Given the description of an element on the screen output the (x, y) to click on. 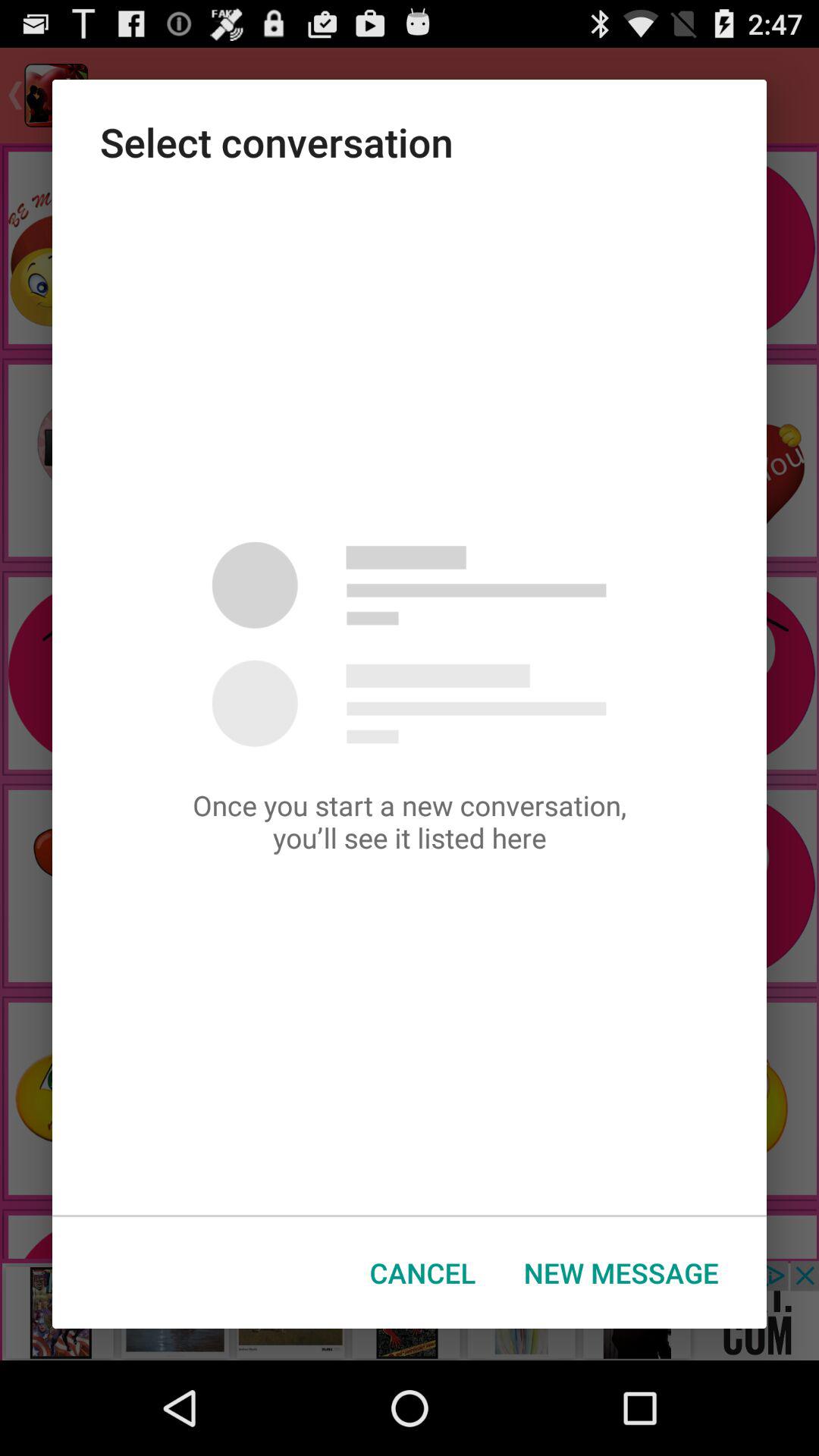
turn off icon to the left of new message button (422, 1272)
